Given the description of an element on the screen output the (x, y) to click on. 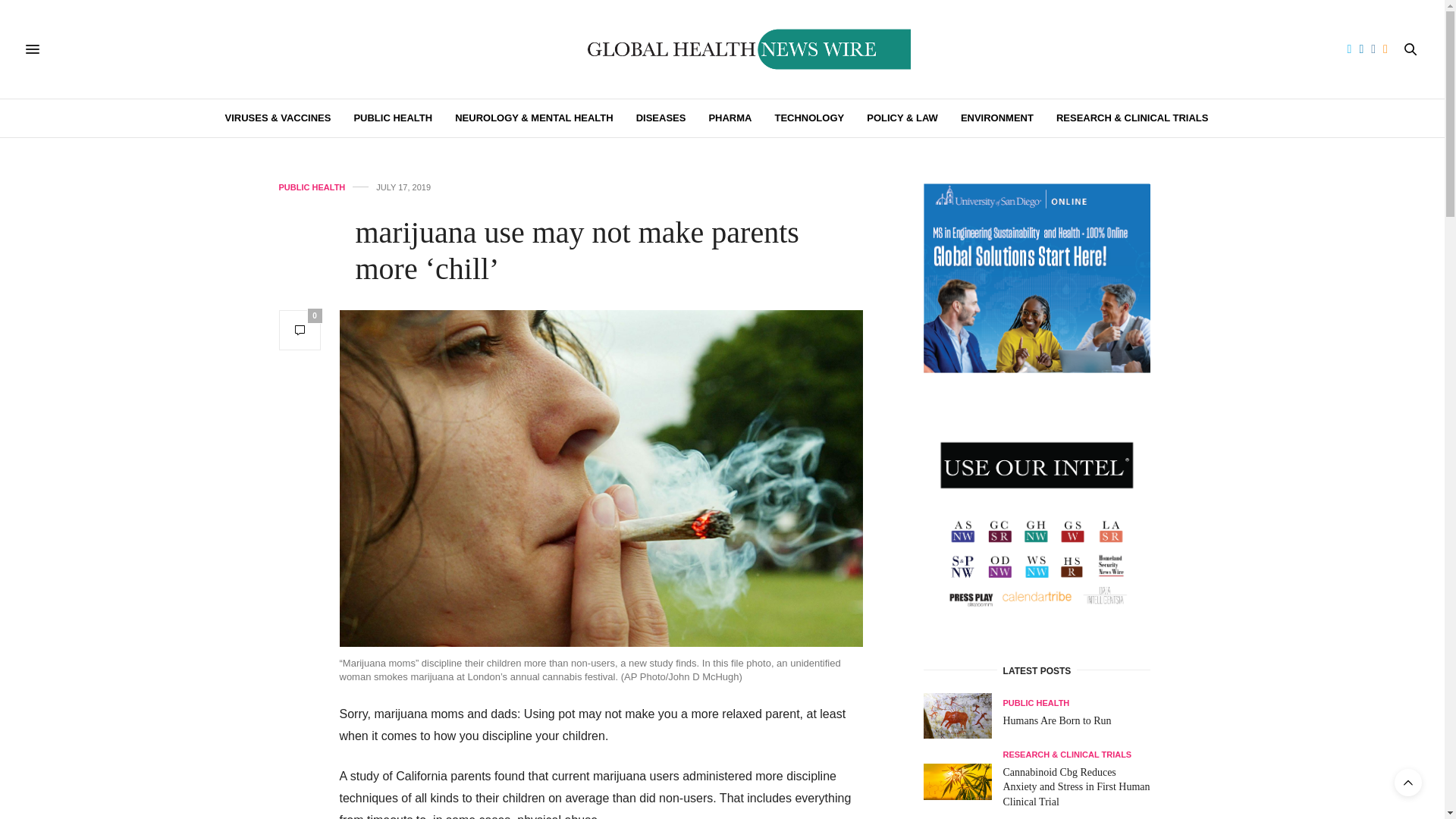
ENVIRONMENT (996, 118)
Humans Are Born to Run (963, 715)
Humans Are Born to Run (957, 715)
Humans Are Born to Run (1056, 720)
Global Health News Wire (722, 49)
DISEASES (660, 118)
TECHNOLOGY (809, 118)
0 (299, 330)
PUBLIC HEALTH (392, 118)
PUBLIC HEALTH (312, 187)
PHARMA (729, 118)
